Given the description of an element on the screen output the (x, y) to click on. 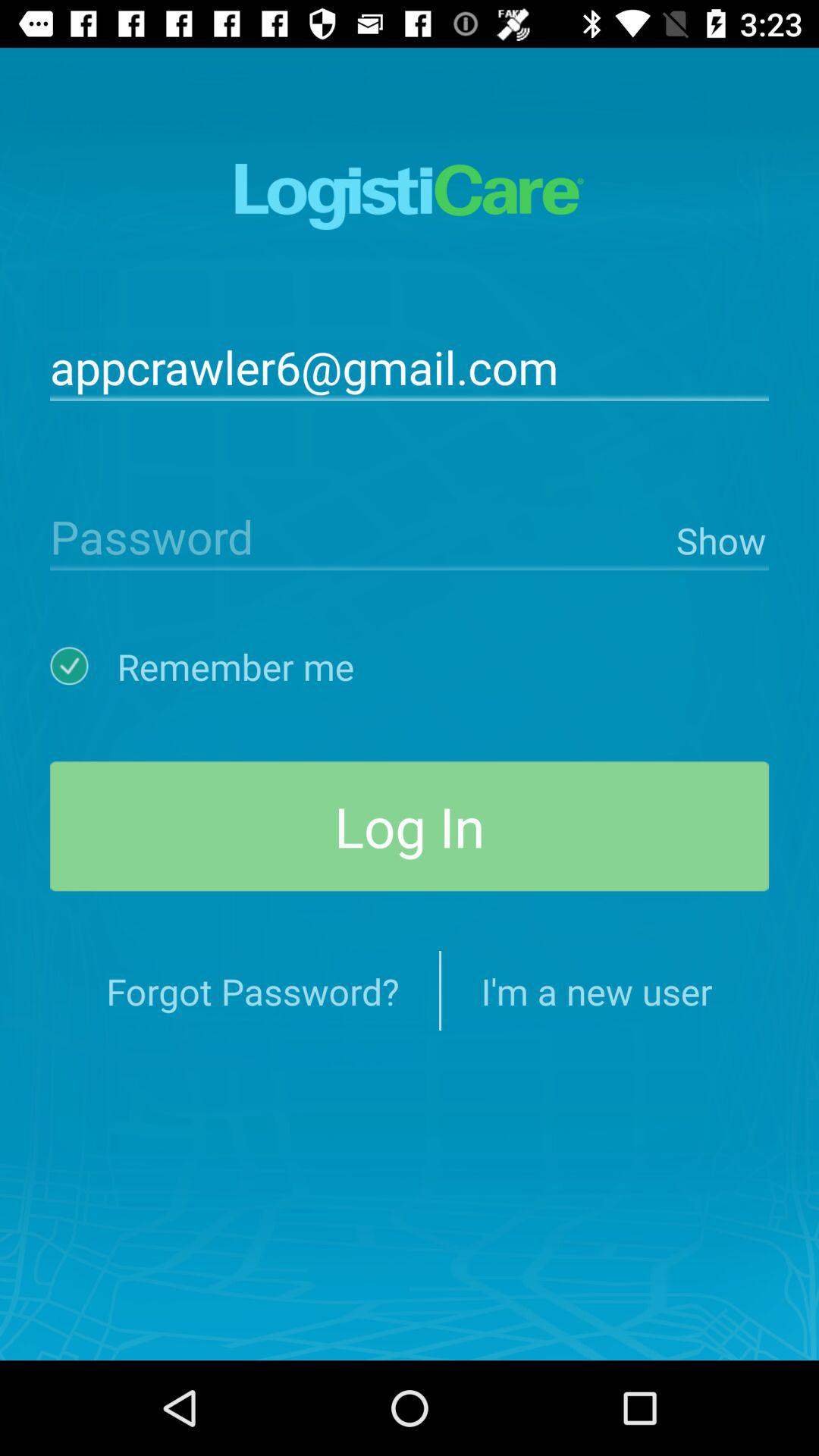
enter your password (359, 535)
